Given the description of an element on the screen output the (x, y) to click on. 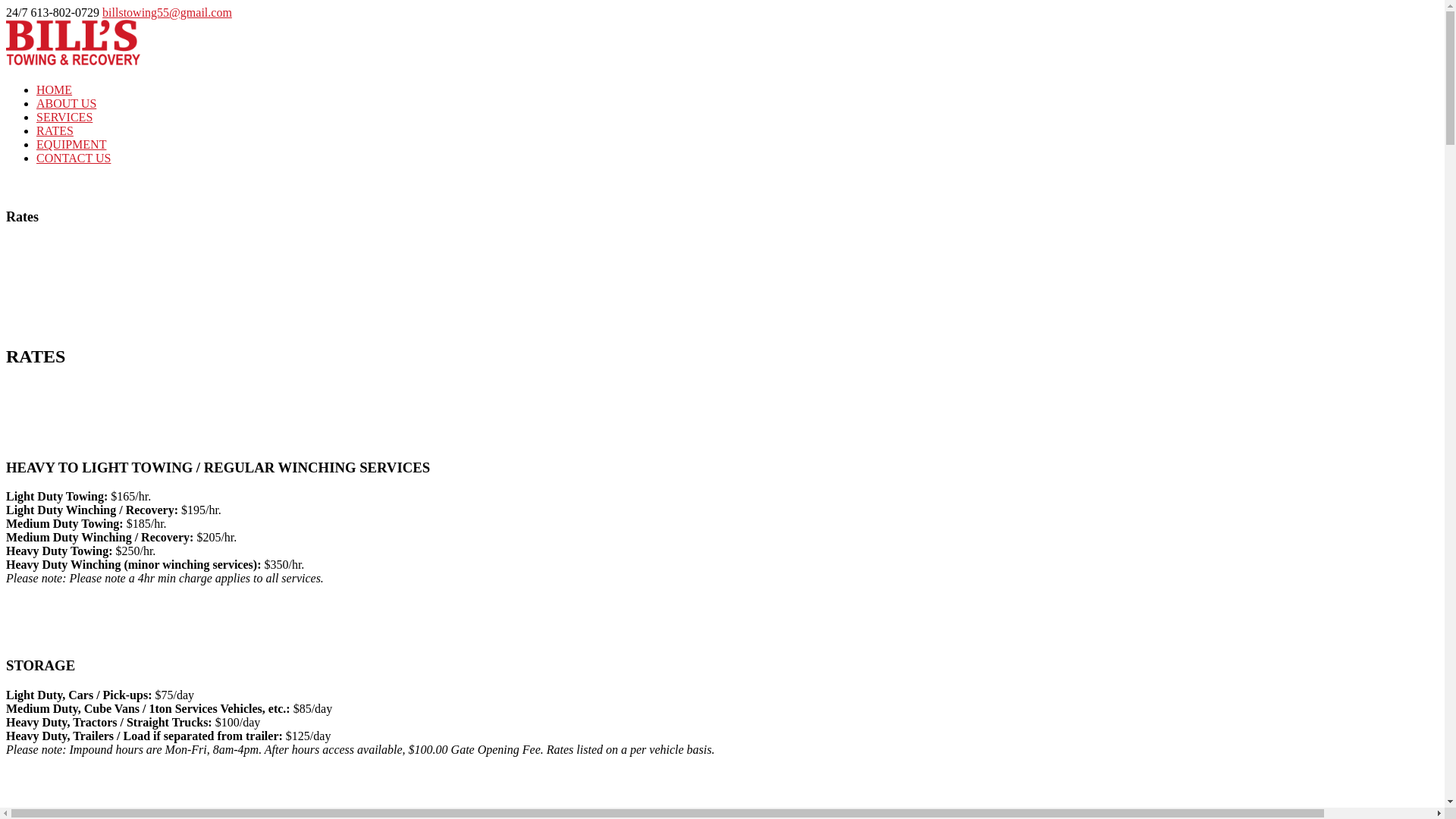
SERVICES Element type: text (64, 116)
RATES Element type: text (54, 130)
EQUIPMENT Element type: text (71, 144)
CONTACT US Element type: text (73, 157)
billstowing55@gmail.com Element type: text (167, 12)
HOME Element type: text (54, 89)
ABOUT US Element type: text (66, 103)
